Given the description of an element on the screen output the (x, y) to click on. 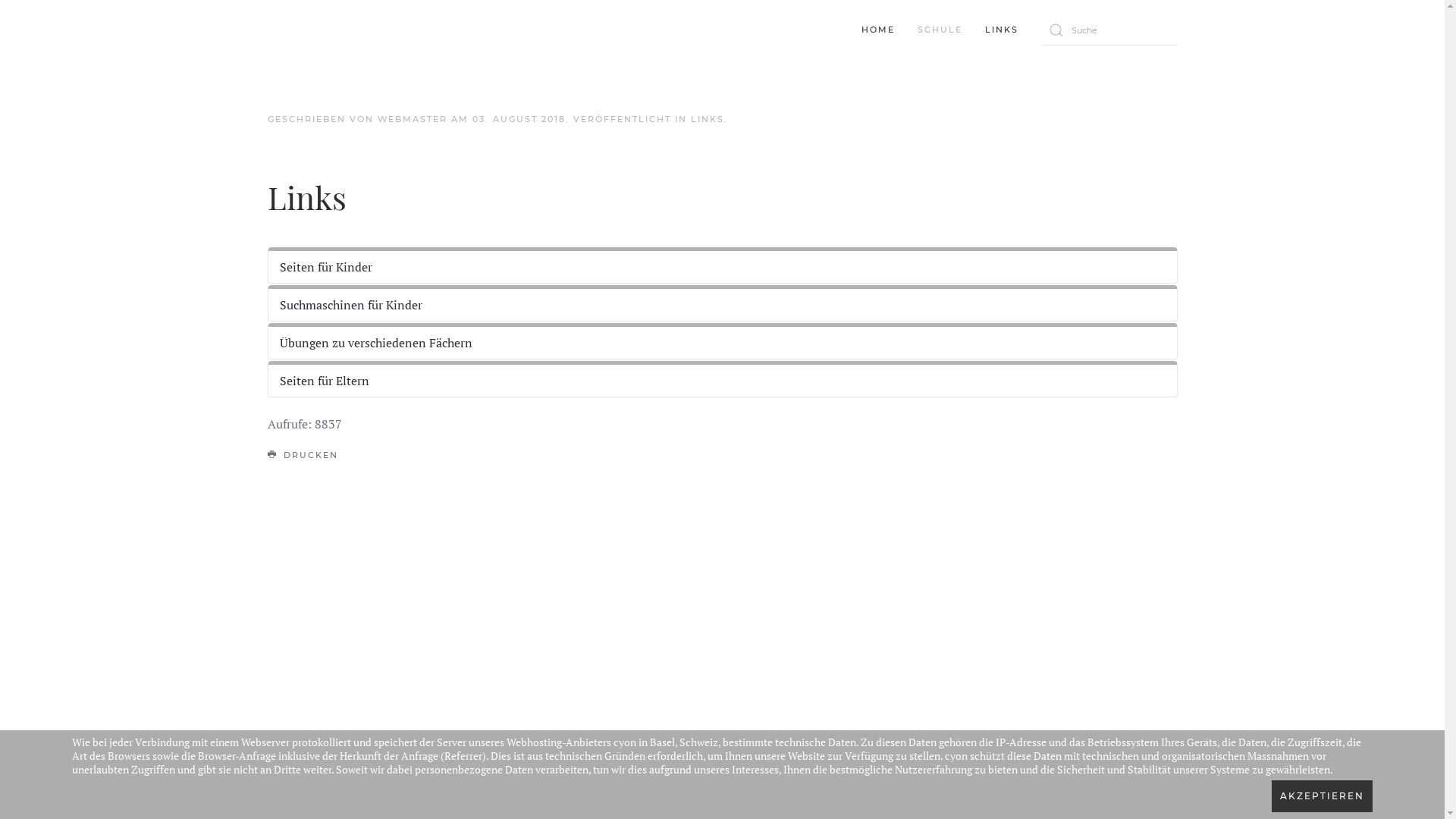
LINKS Element type: text (1001, 30)
HOME Element type: text (877, 30)
LINKS Element type: text (706, 118)
DRUCKEN Element type: text (302, 455)
AKZEPTIEREN Element type: text (1321, 796)
SCHULE Element type: text (938, 30)
